Given the description of an element on the screen output the (x, y) to click on. 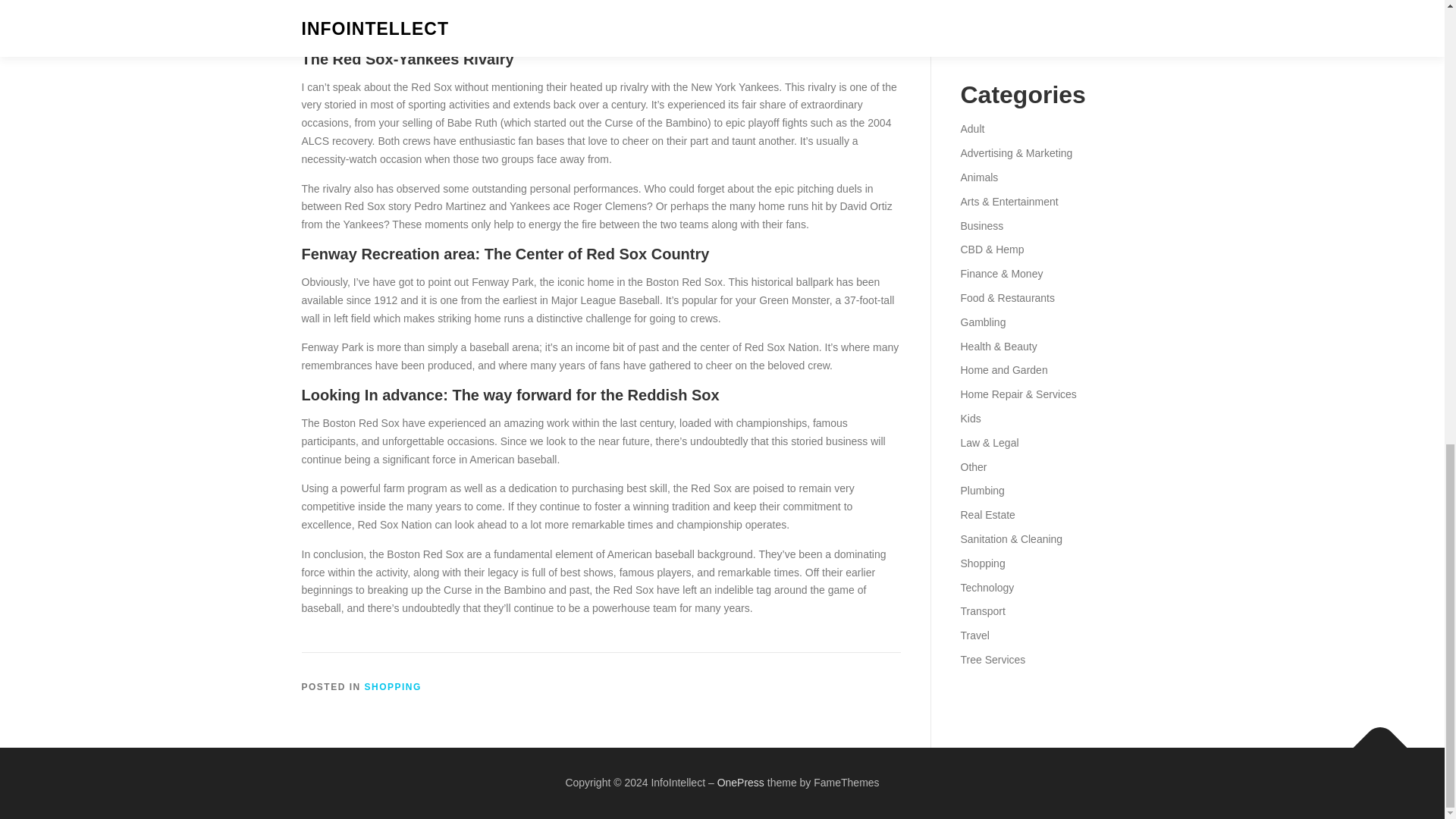
Back To Top (1372, 740)
May 2023 (982, 9)
Business (981, 225)
SHOPPING (393, 686)
Adult (971, 128)
April 2023 (983, 33)
Animals (978, 177)
